Given the description of an element on the screen output the (x, y) to click on. 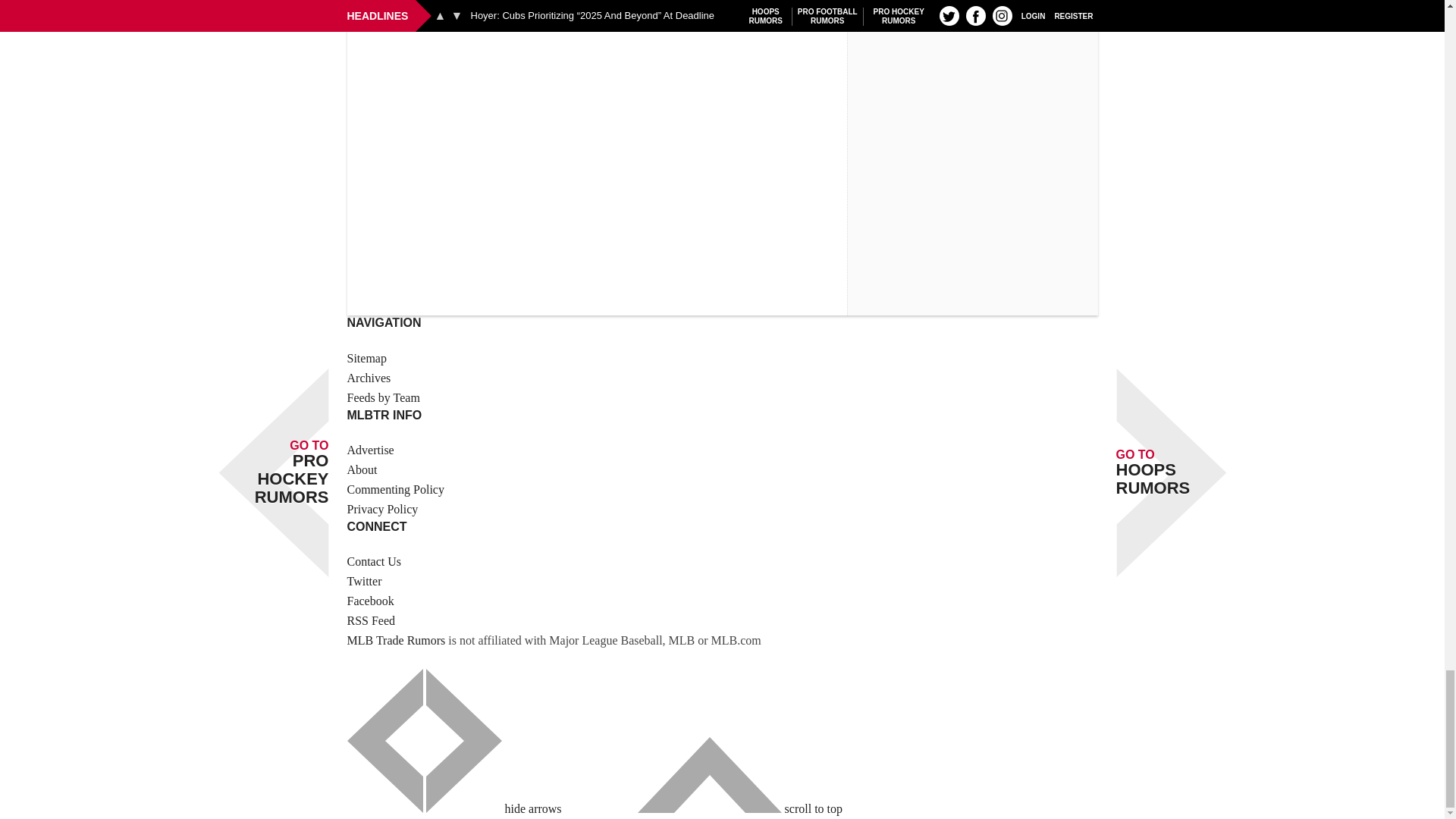
MLB Trade Rumors (396, 640)
